Given the description of an element on the screen output the (x, y) to click on. 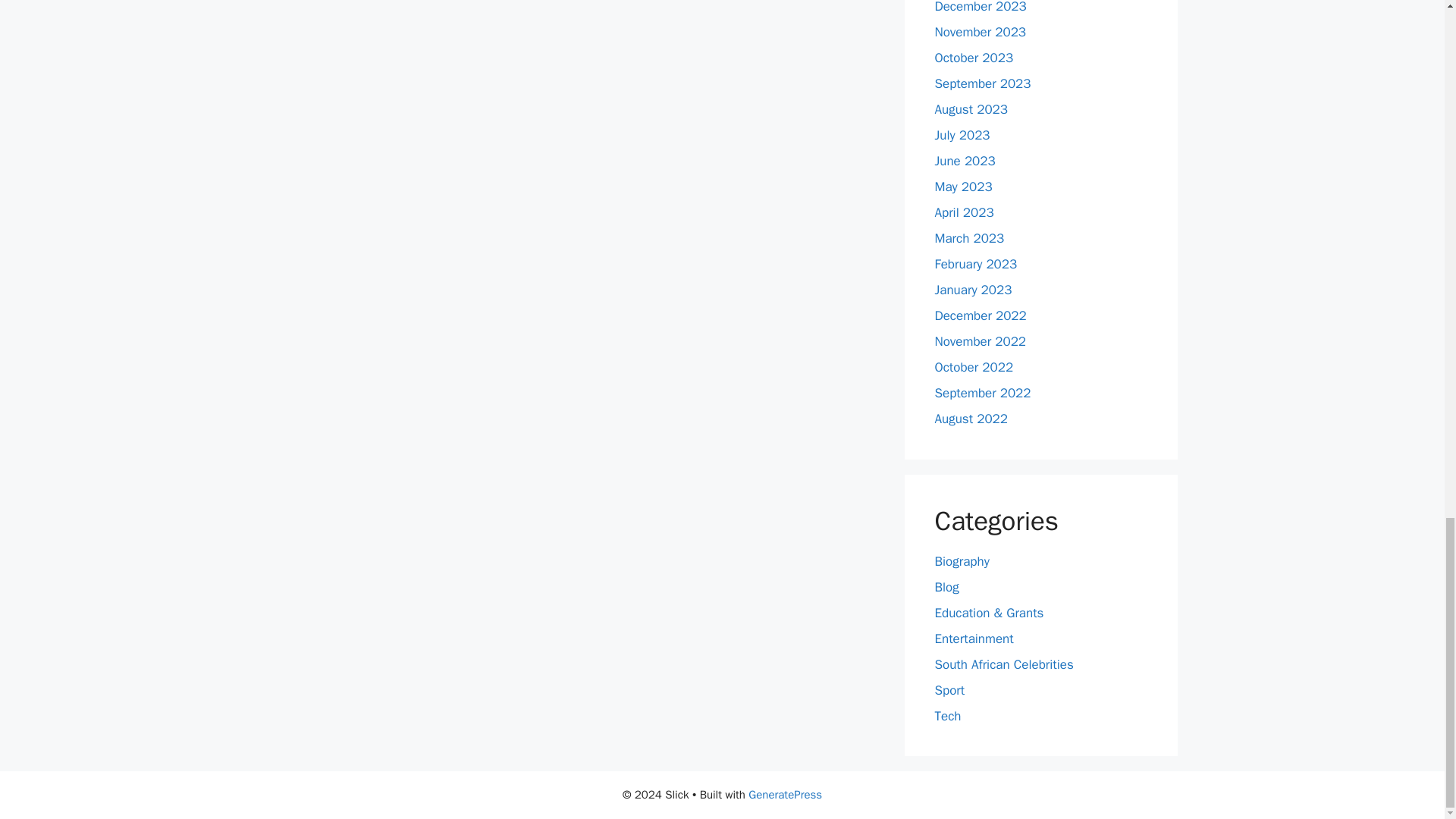
December 2023 (980, 7)
August 2023 (970, 109)
October 2022 (973, 367)
May 2023 (962, 186)
September 2022 (982, 392)
December 2022 (980, 315)
October 2023 (973, 57)
April 2023 (963, 212)
January 2023 (972, 289)
February 2023 (975, 263)
